Given the description of an element on the screen output the (x, y) to click on. 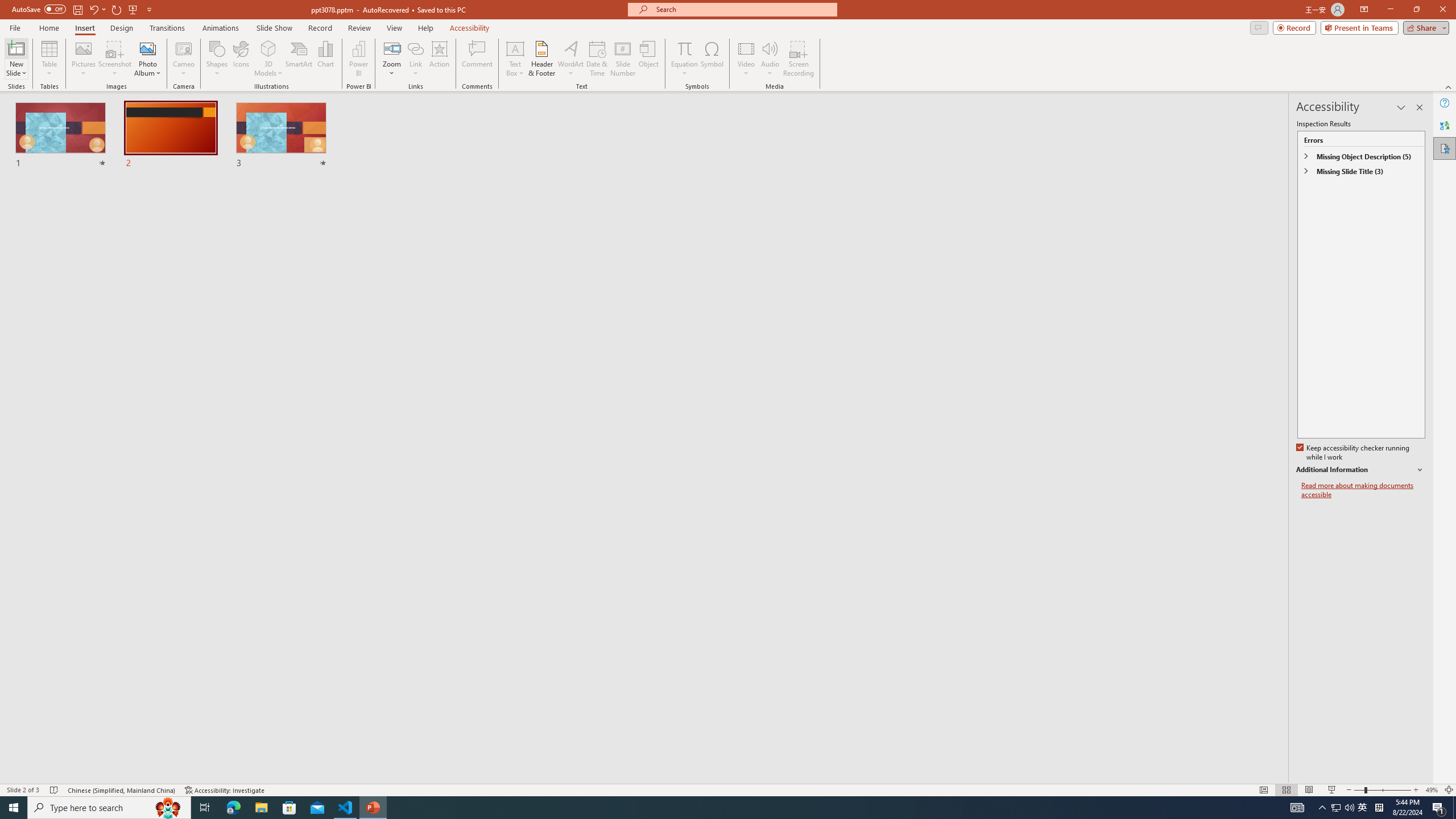
Draw Horizontal Text Box (515, 48)
Photo Album... (147, 58)
